Given the description of an element on the screen output the (x, y) to click on. 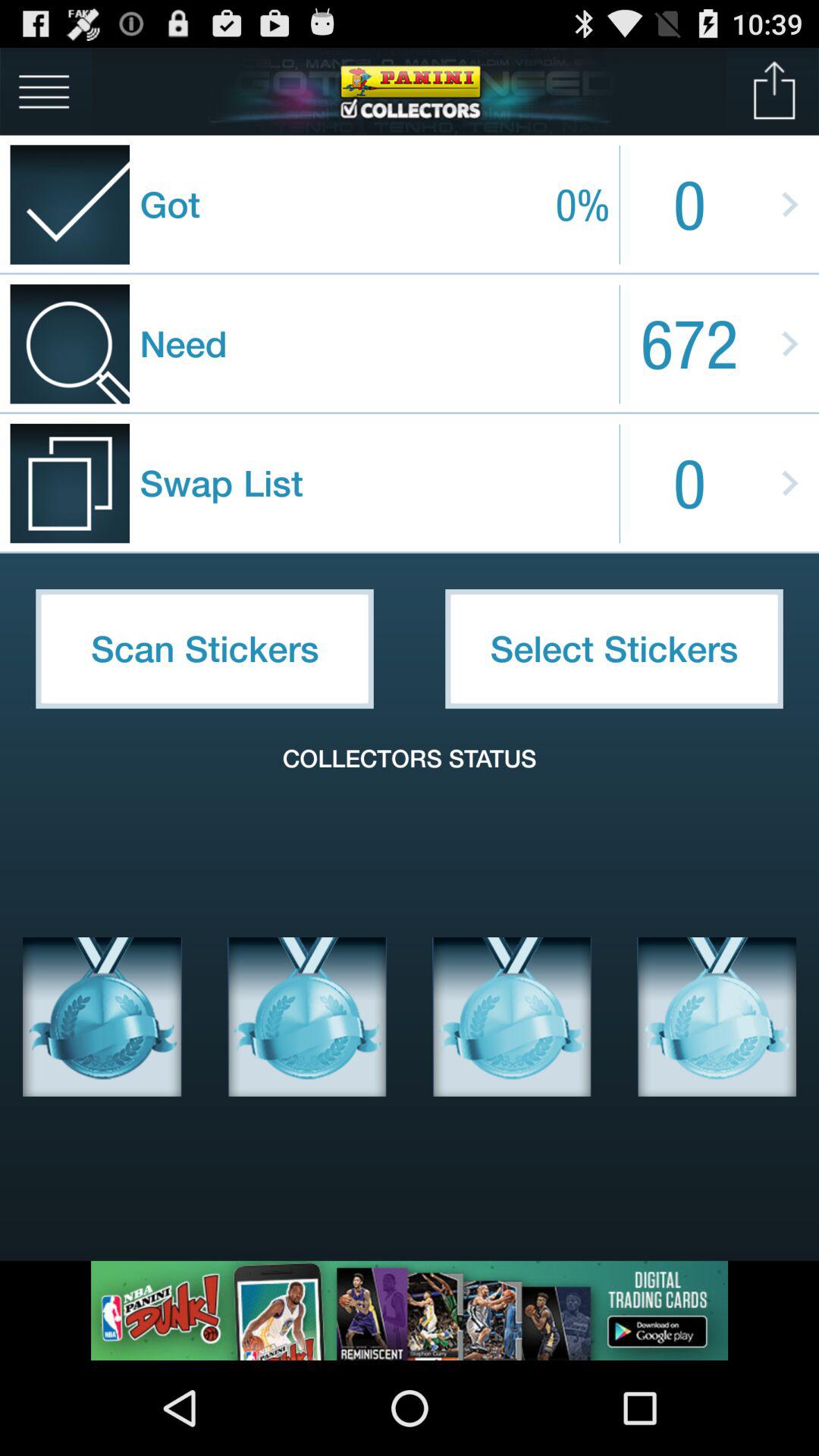
link to advertisement (409, 1310)
